Given the description of an element on the screen output the (x, y) to click on. 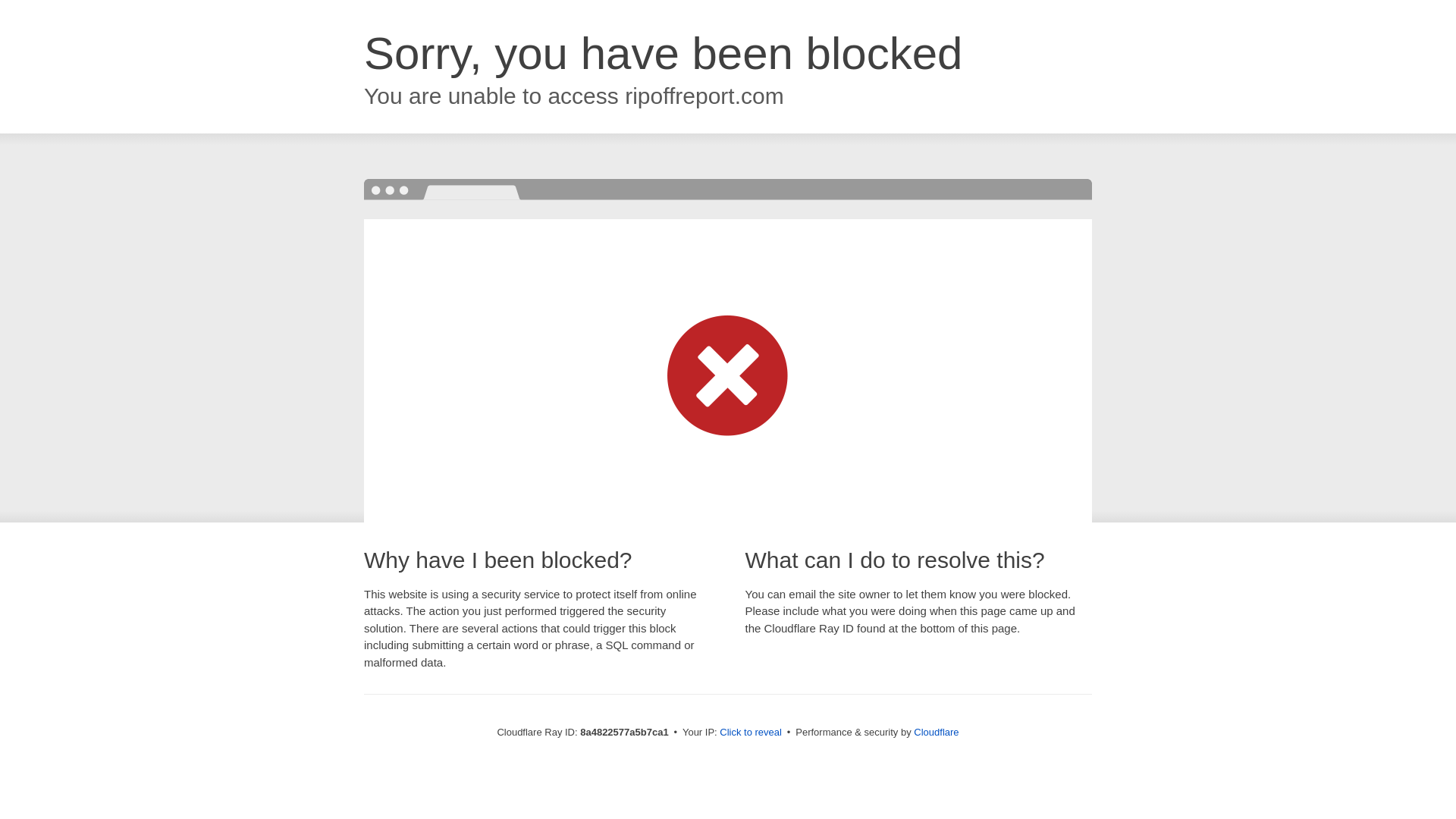
Click to reveal (750, 732)
Cloudflare (936, 731)
